Given the description of an element on the screen output the (x, y) to click on. 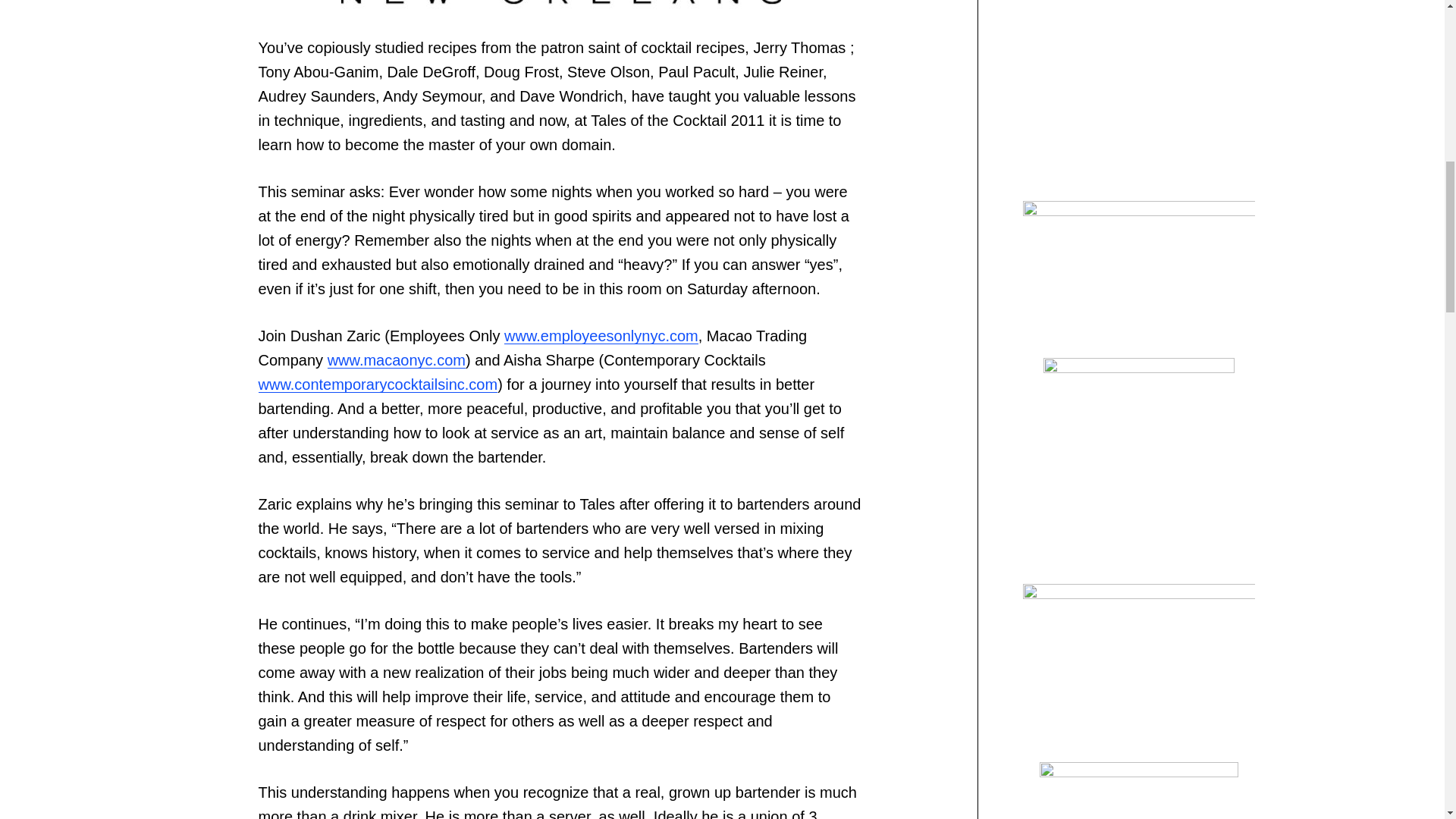
Tales of the Cocktail 2010 logo (560, 6)
www.contemporarycocktailsinc.com (377, 384)
www.employeesonlynyc.com (600, 335)
www.macaonyc.com (396, 360)
